Given the description of an element on the screen output the (x, y) to click on. 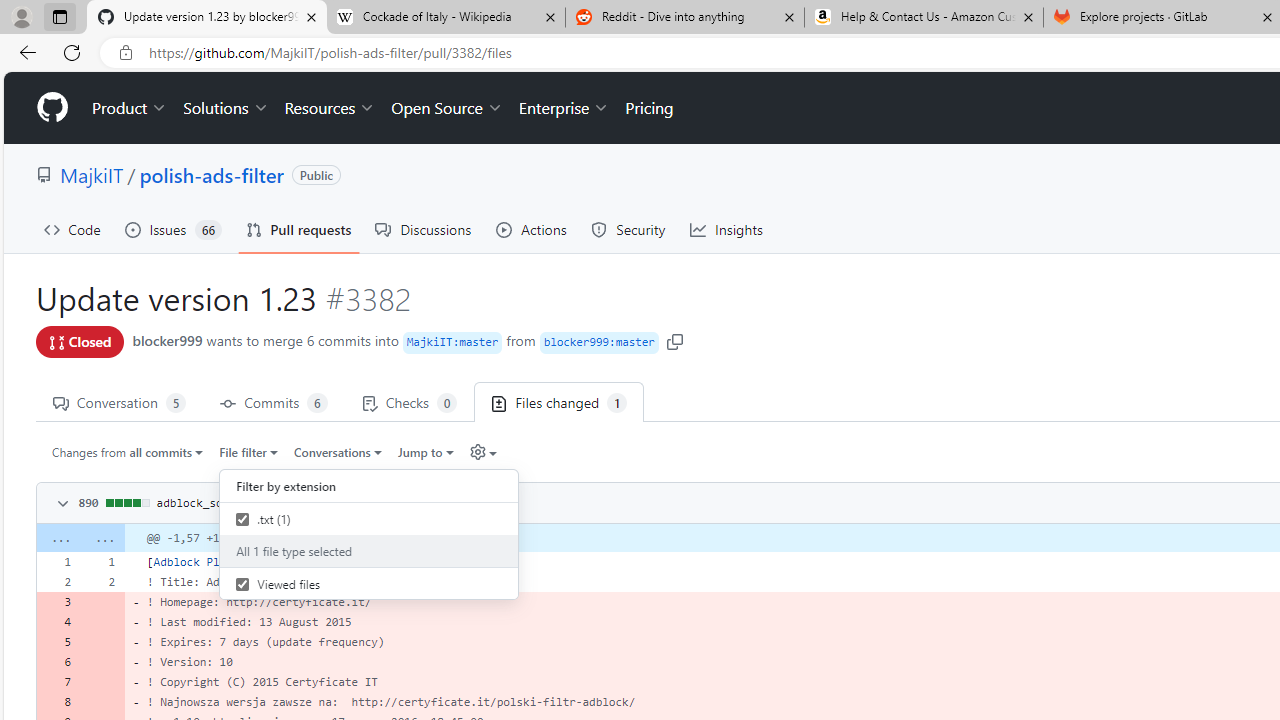
Security (628, 229)
 Checks 0 (409, 401)
Conversations (338, 451)
Enterprise (563, 107)
3 (58, 601)
Original file line number (63, 555)
Pull requests (298, 229)
Actions (531, 229)
Product (130, 107)
Toggle diff contents (60, 504)
